Given the description of an element on the screen output the (x, y) to click on. 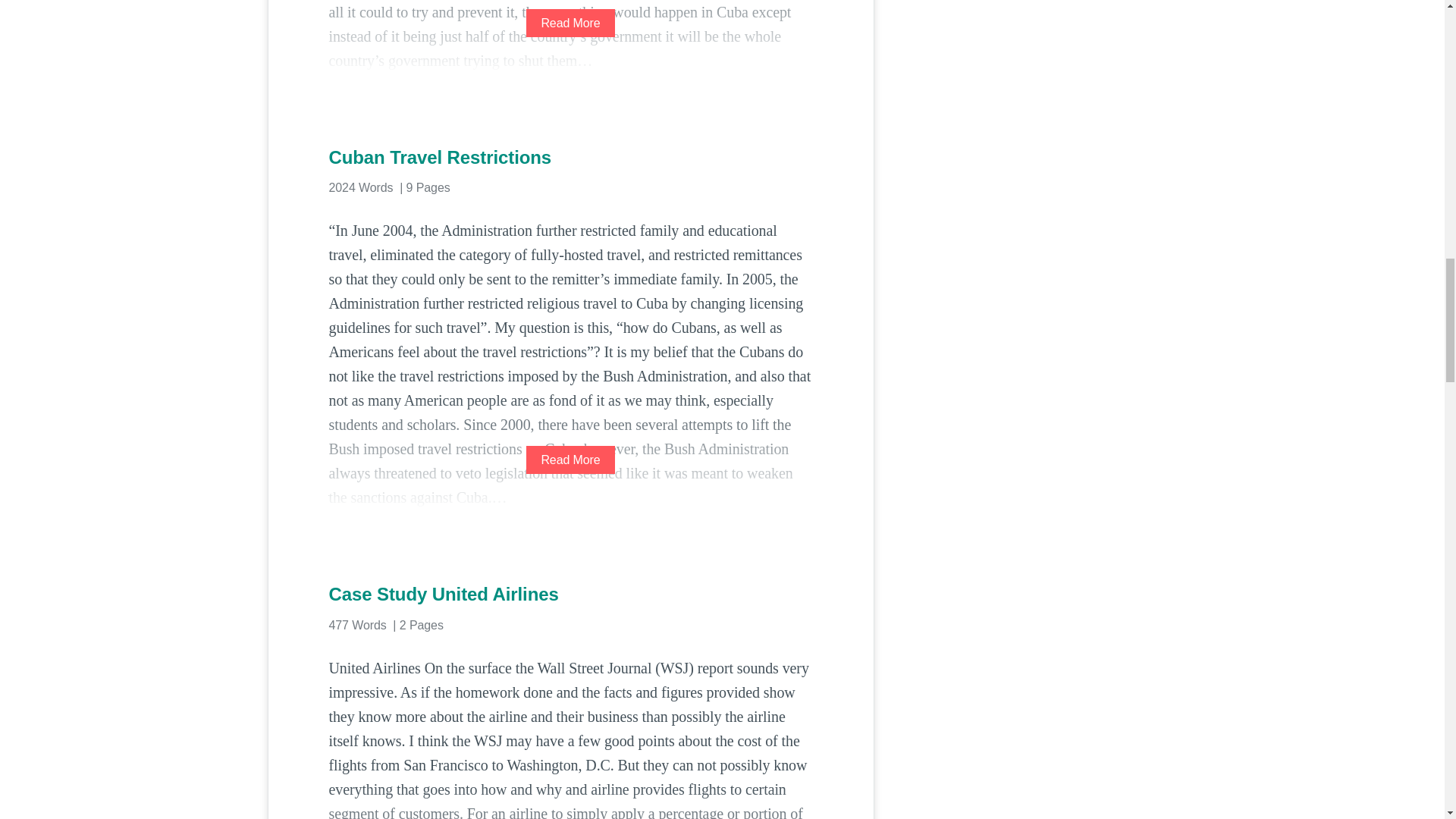
Read More (569, 459)
Cuban Travel Restrictions (570, 157)
Case Study United Airlines (570, 594)
Read More (569, 22)
